Given the description of an element on the screen output the (x, y) to click on. 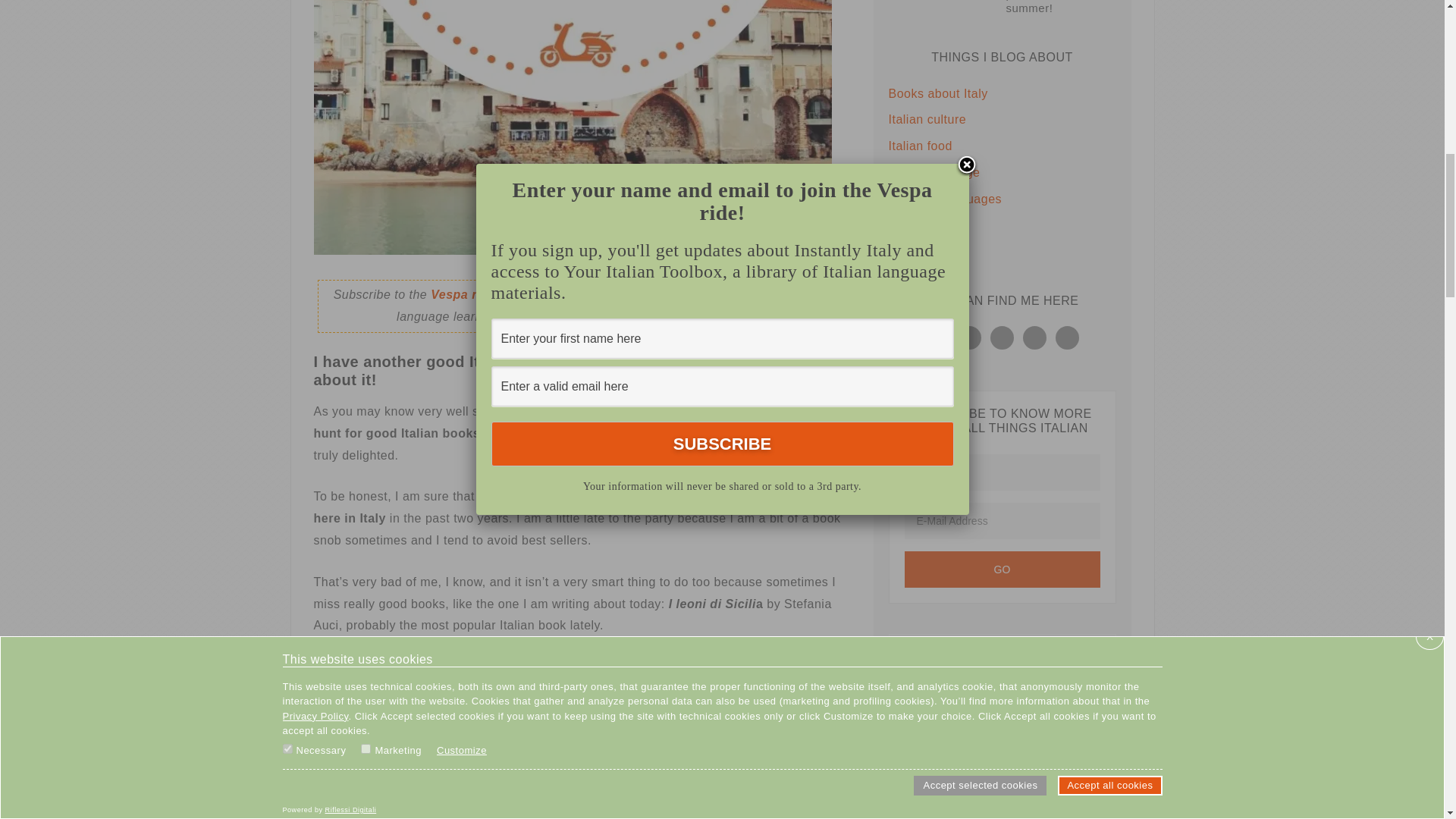
Vespa rides (466, 294)
Go (1001, 569)
